Given the description of an element on the screen output the (x, y) to click on. 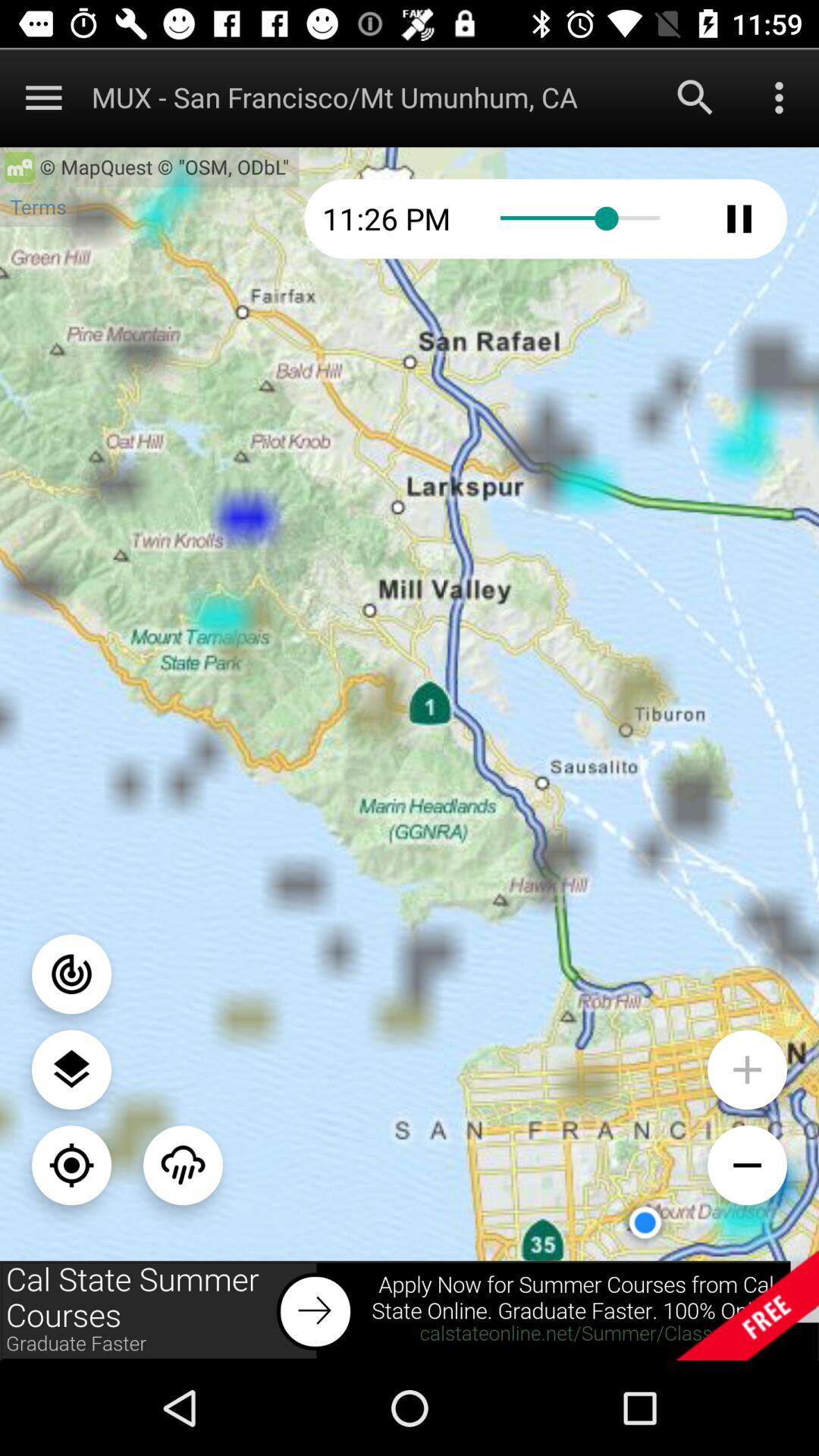
change layers (71, 1069)
